Given the description of an element on the screen output the (x, y) to click on. 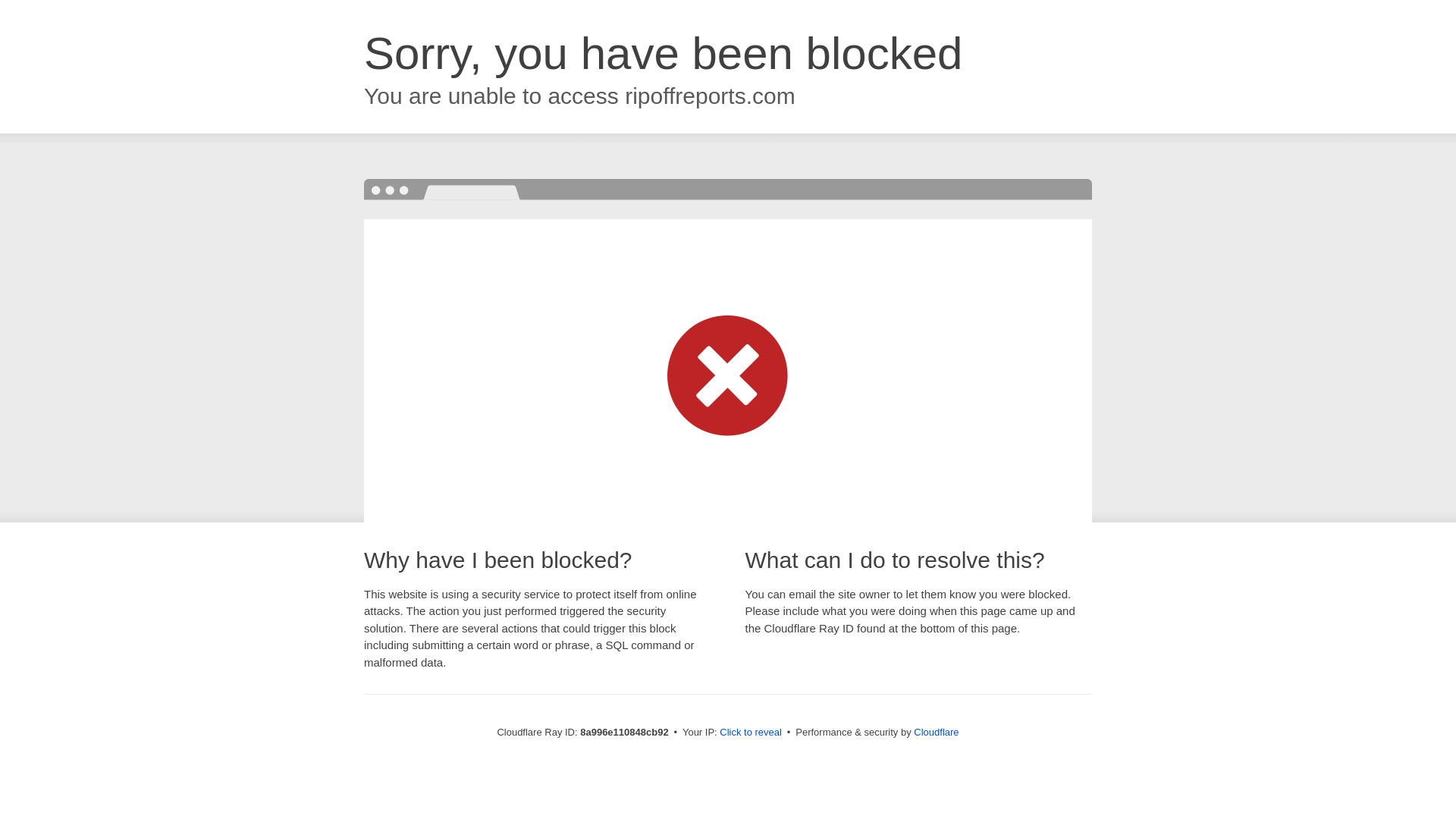
Click to reveal (750, 732)
Cloudflare (936, 731)
